Given the description of an element on the screen output the (x, y) to click on. 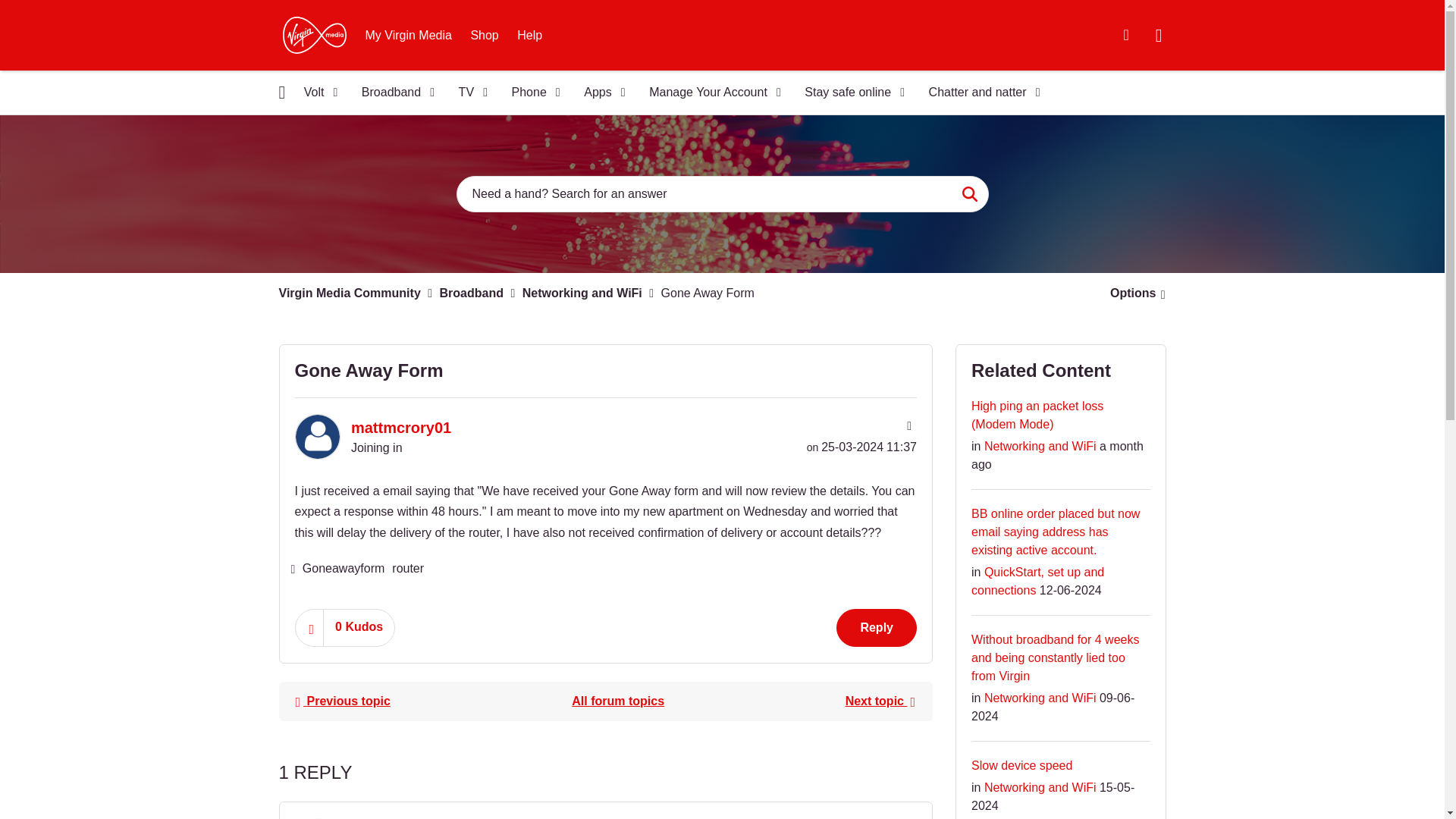
Router Relocation (341, 700)
The total number of kudos this post has received. (358, 626)
Search (722, 194)
Broadband (392, 92)
Shop (484, 34)
Search (969, 193)
Virgin Media (314, 35)
Manage Your Account (709, 92)
Volt (315, 92)
Apps (599, 92)
Phone (531, 92)
TV (468, 92)
Networking and WiFi (618, 700)
Show option menu (1133, 293)
mattmcrory01 (316, 436)
